Given the description of an element on the screen output the (x, y) to click on. 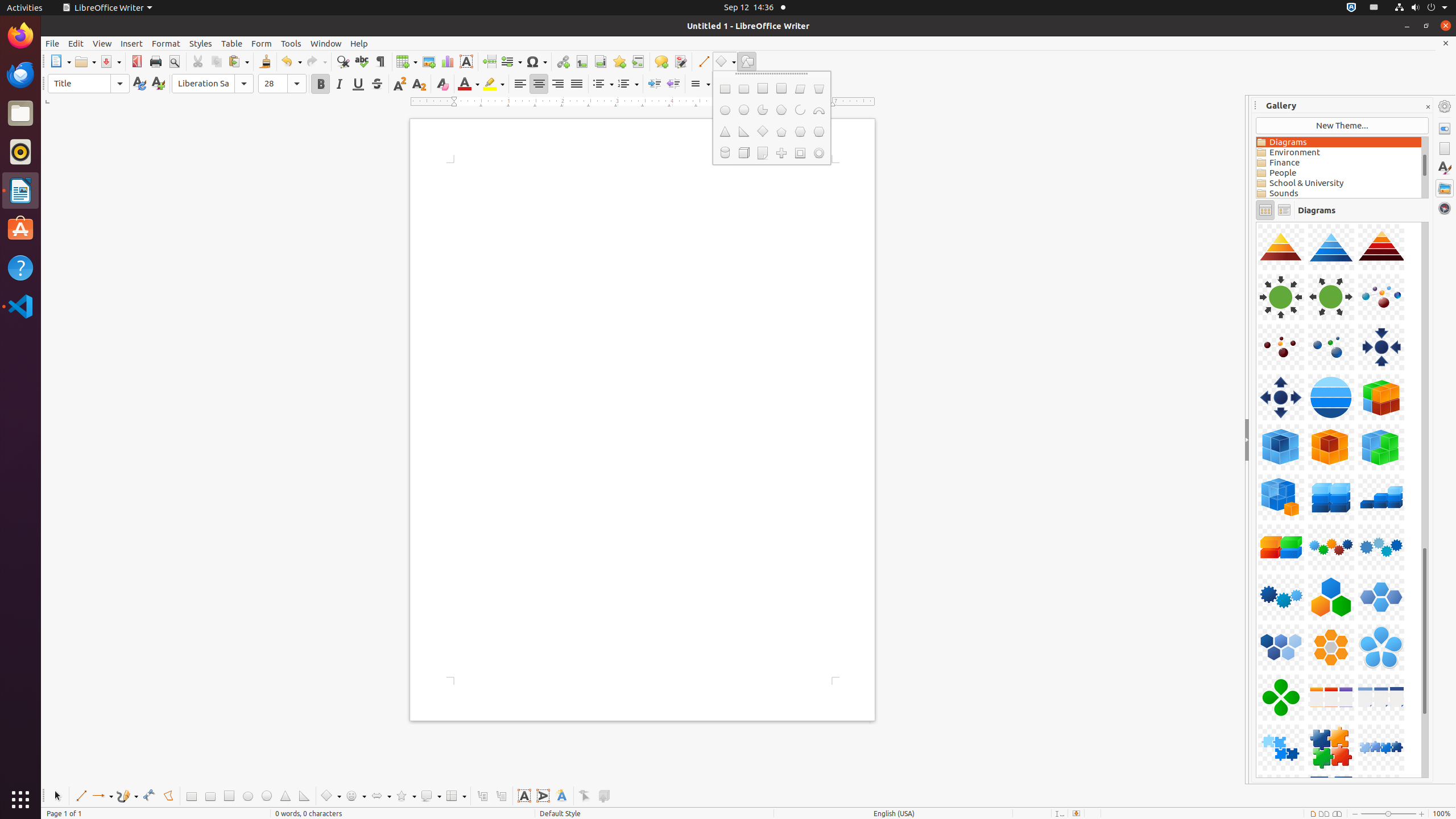
Star Shapes Element type: push-button (405, 795)
Table Element type: push-button (406, 61)
Component-Cuboid03-Green Element type: list-item (1256, 222)
Show Applications Element type: toggle-button (20, 799)
Rectangle Element type: toggle-button (724, 88)
